Given the description of an element on the screen output the (x, y) to click on. 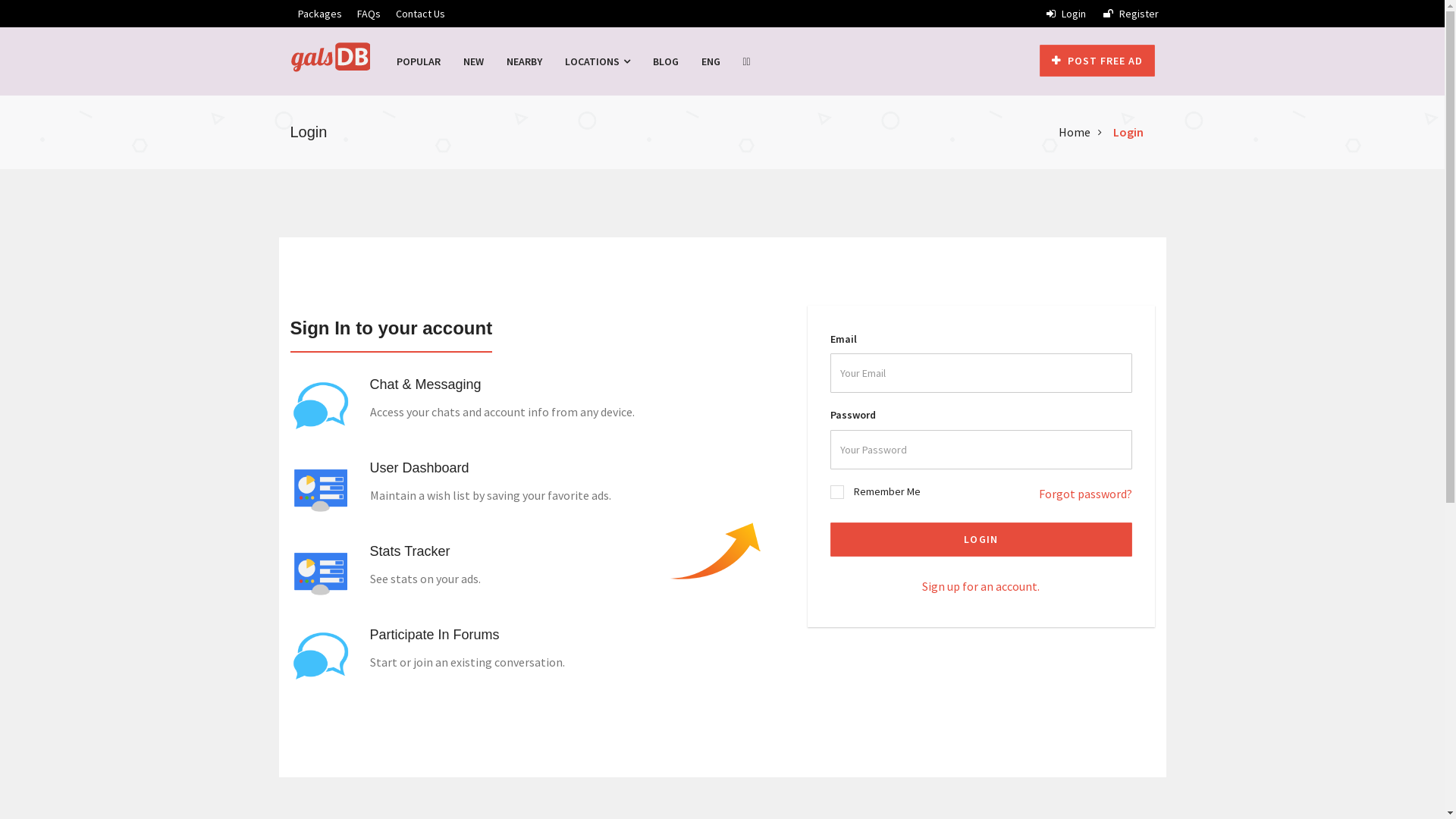
Participate In Forums Element type: text (434, 638)
FAQs Element type: text (367, 13)
LOGIN Element type: text (981, 539)
Contact Us Element type: text (420, 13)
POST FREE AD Element type: text (1096, 60)
Stats Tracker Element type: text (410, 554)
Sign up for an account. Element type: text (980, 585)
BLOG Element type: text (665, 61)
NEARBY Element type: text (523, 61)
NEW Element type: text (473, 61)
POPULAR Element type: text (418, 61)
User Dashboard Element type: text (419, 471)
Home Element type: text (1074, 132)
LOCATIONS Element type: text (597, 61)
Chat & Messaging Element type: text (425, 387)
ENG Element type: text (710, 61)
Register Element type: text (1129, 13)
Packages Element type: text (319, 13)
Login Element type: text (1065, 13)
Forgot password? Element type: text (1085, 493)
Login Element type: text (1128, 132)
